Given the description of an element on the screen output the (x, y) to click on. 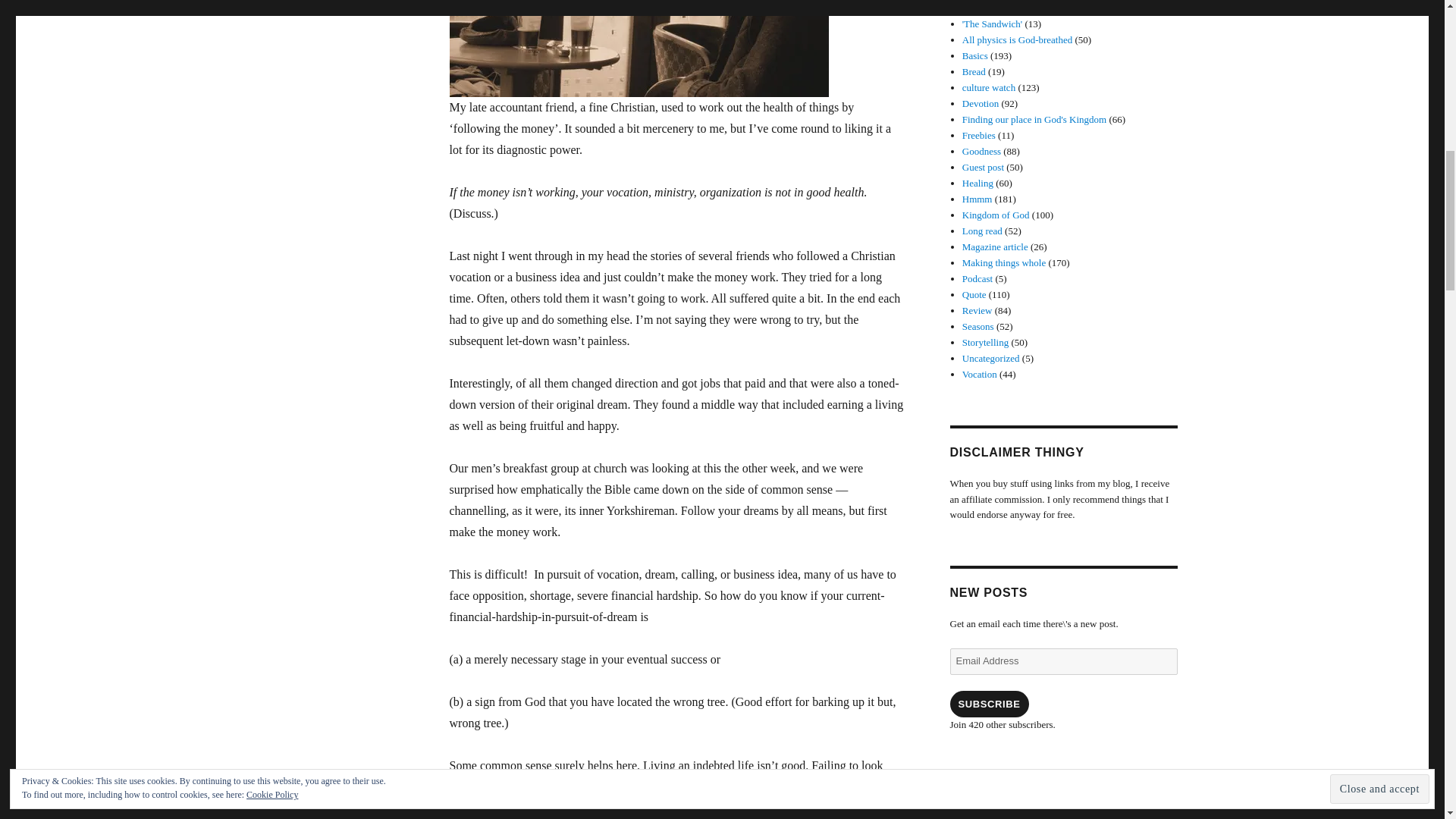
Untitled (676, 56)
